Given the description of an element on the screen output the (x, y) to click on. 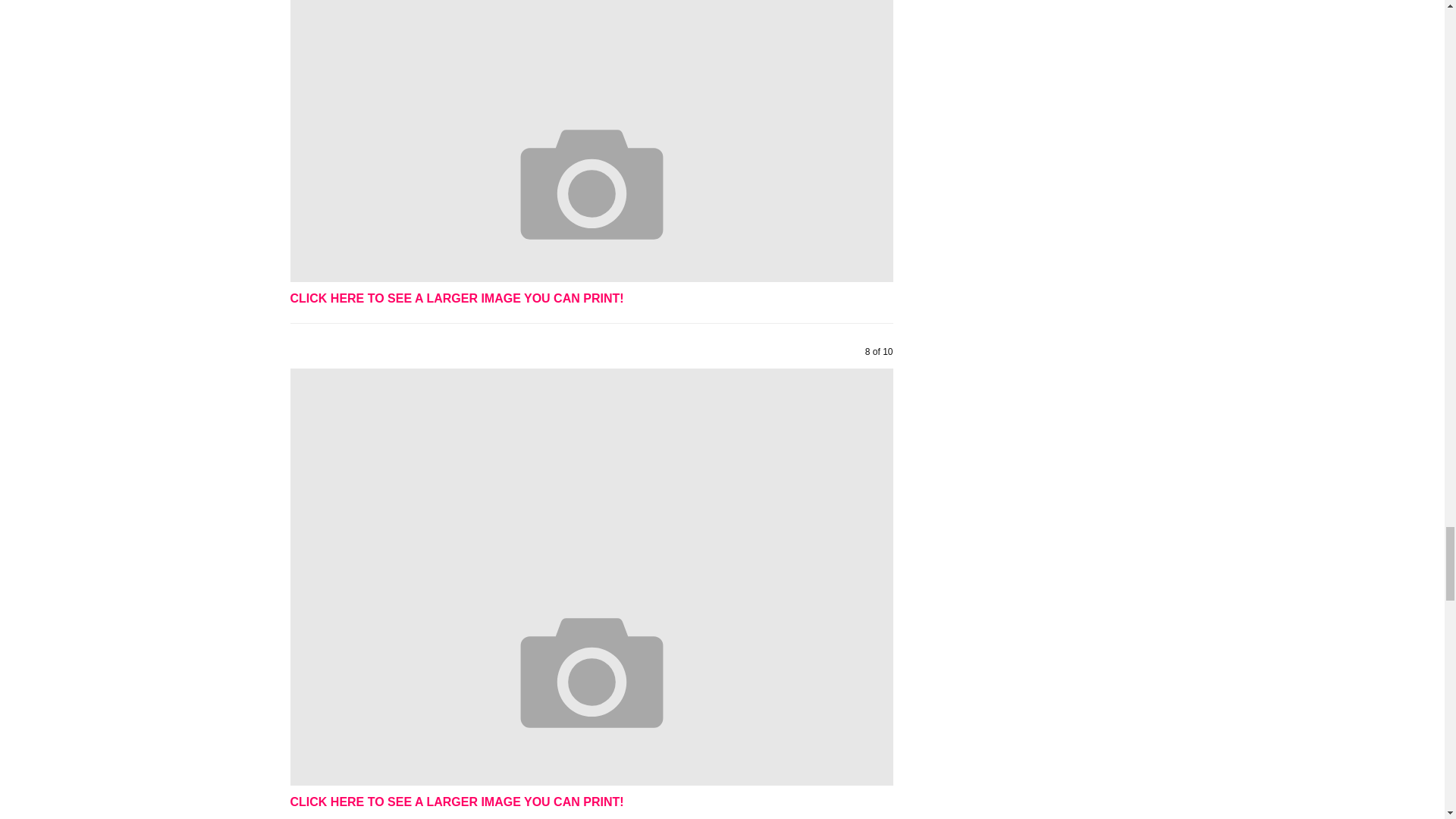
CLICK HERE TO SEE A LARGER IMAGE YOU CAN PRINT! (456, 297)
CLICK HERE TO SEE A LARGER IMAGE YOU CAN PRINT! (456, 801)
